Given the description of an element on the screen output the (x, y) to click on. 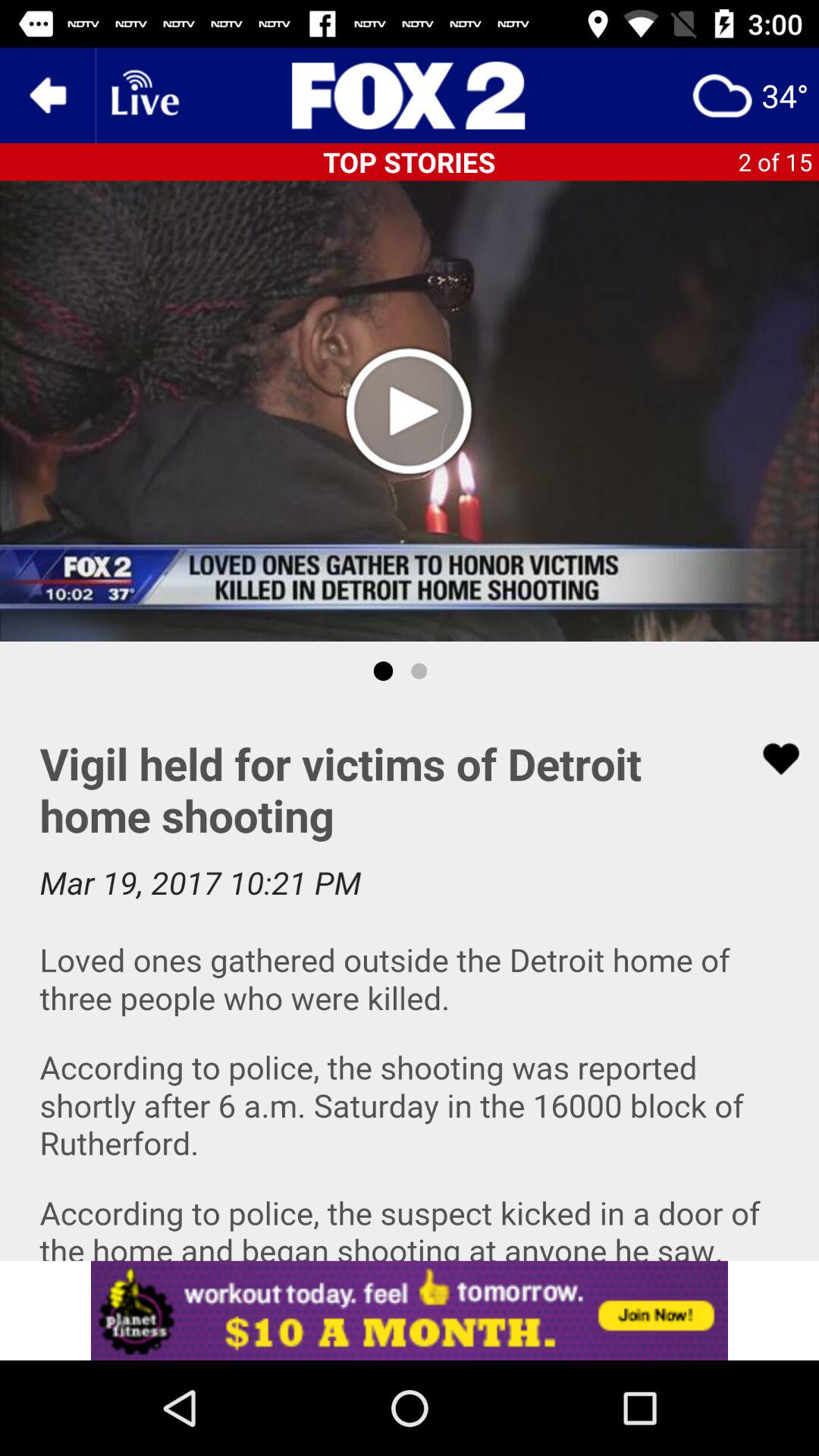
fox 2 button (409, 95)
